Given the description of an element on the screen output the (x, y) to click on. 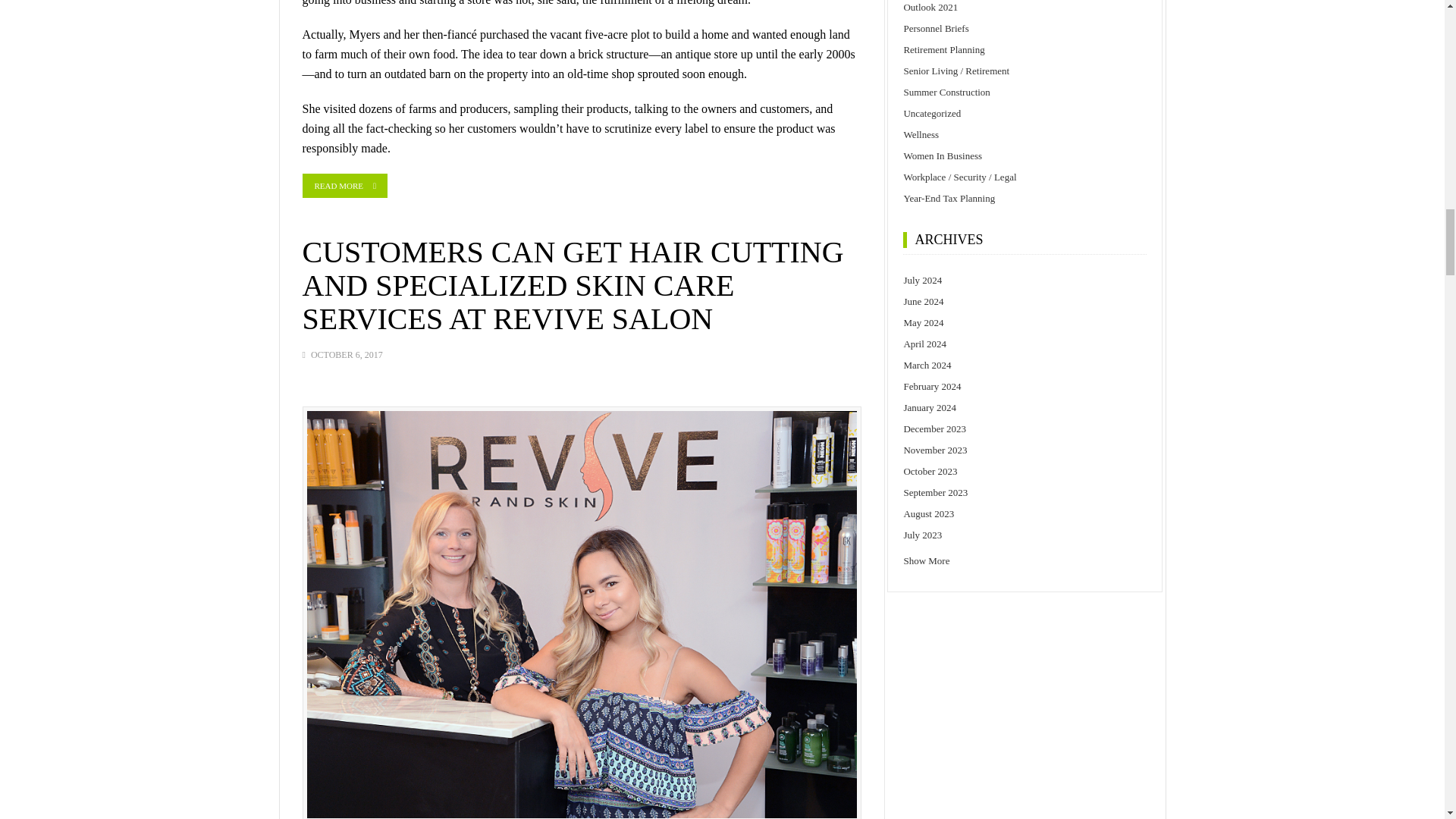
READ MORE (344, 185)
OCTOBER 6, 2017 (346, 354)
